Given the description of an element on the screen output the (x, y) to click on. 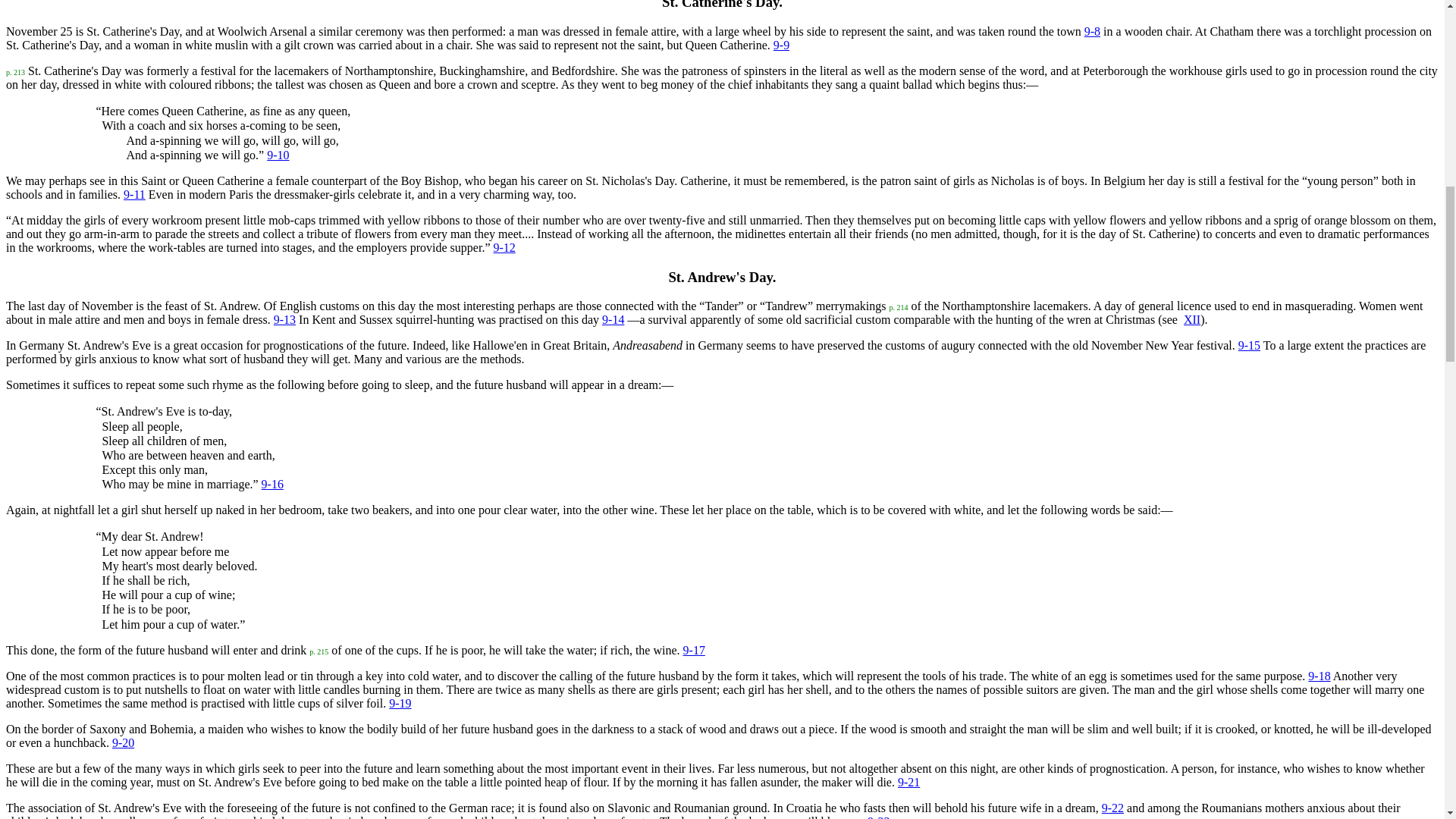
9-13 (284, 318)
9-12 (504, 246)
p. 213 (14, 70)
9-10 (277, 154)
9-9 (781, 44)
9-8 (1092, 31)
p. 214 (897, 305)
9-11 (134, 194)
